Given the description of an element on the screen output the (x, y) to click on. 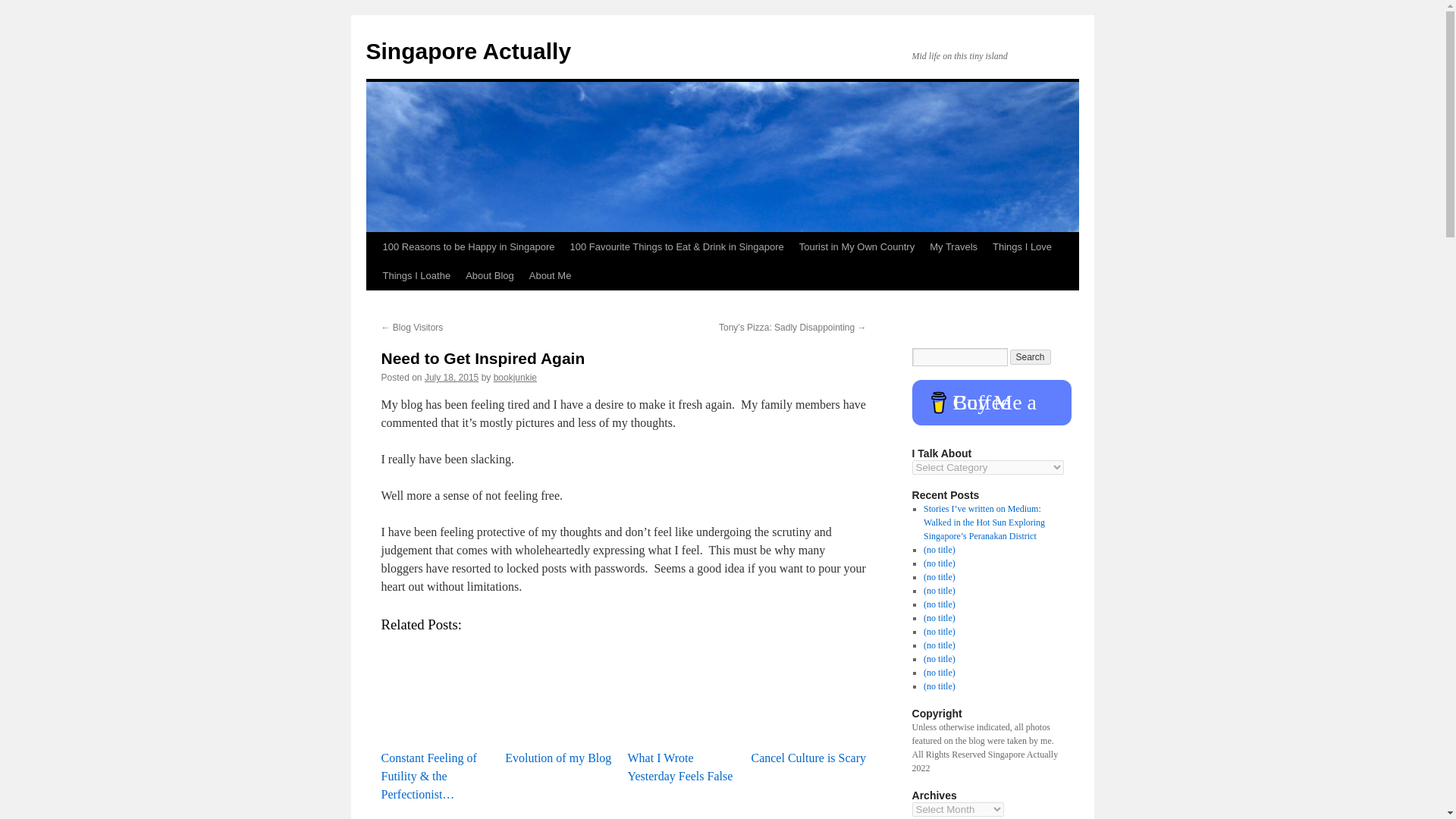
Search (1030, 356)
Cancel Culture is Scary (807, 692)
Singapore Actually (467, 50)
July 18, 2015 (452, 377)
If I Had A Year Left To Live (438, 815)
About Me (550, 275)
100 Reasons to be Happy in Singapore (468, 246)
Things I Loathe (416, 275)
About Blog (489, 275)
What I Wrote Yesterday Feels False (685, 692)
